Given the description of an element on the screen output the (x, y) to click on. 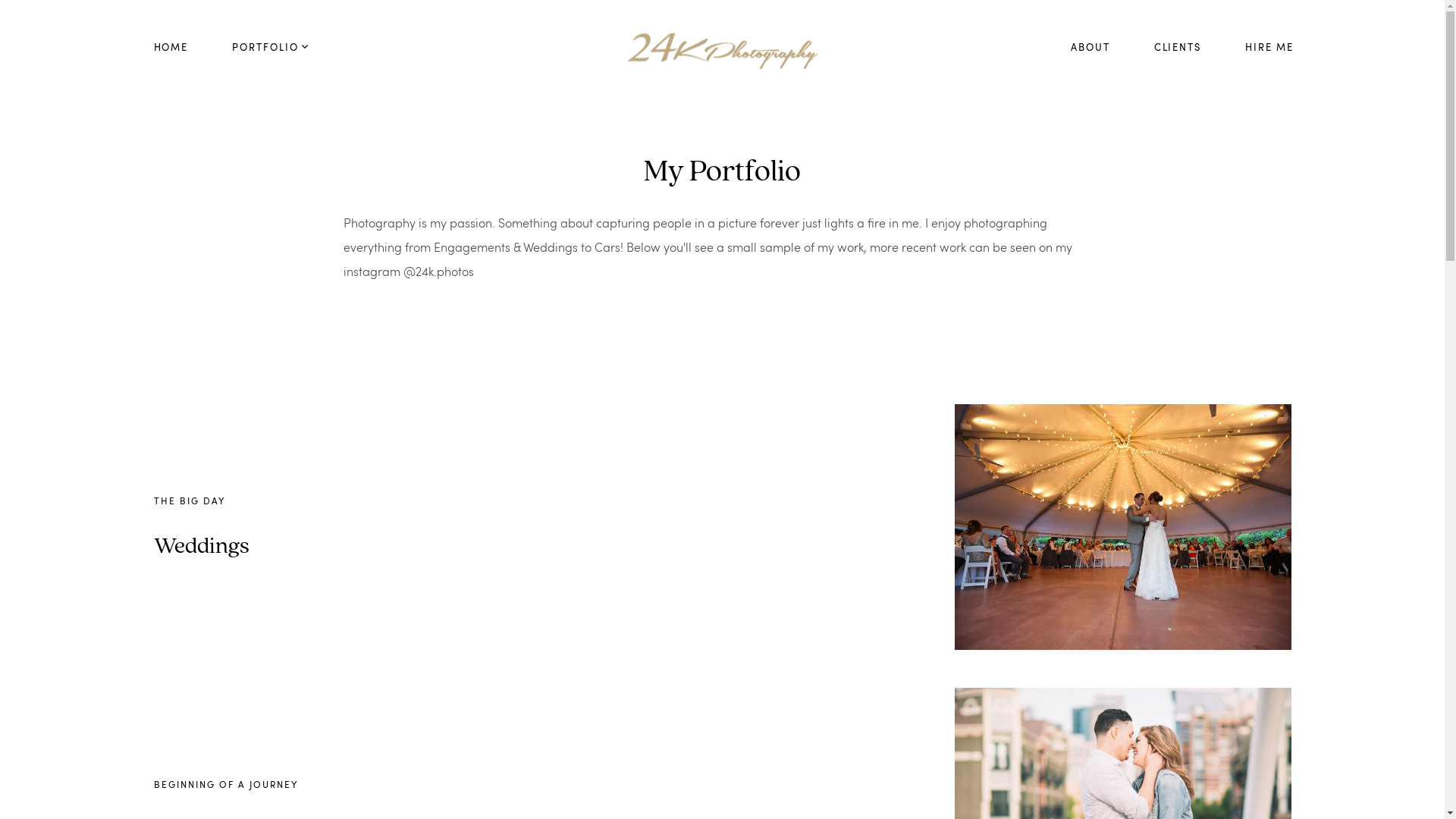
HIRE ME Element type: text (1268, 47)
PORTFOLIO Element type: text (270, 47)
ABOUT Element type: text (1089, 47)
Weddings
THE BIG DAY Element type: text (721, 526)
CLIENTS Element type: text (1177, 47)
HOME Element type: text (170, 47)
